Given the description of an element on the screen output the (x, y) to click on. 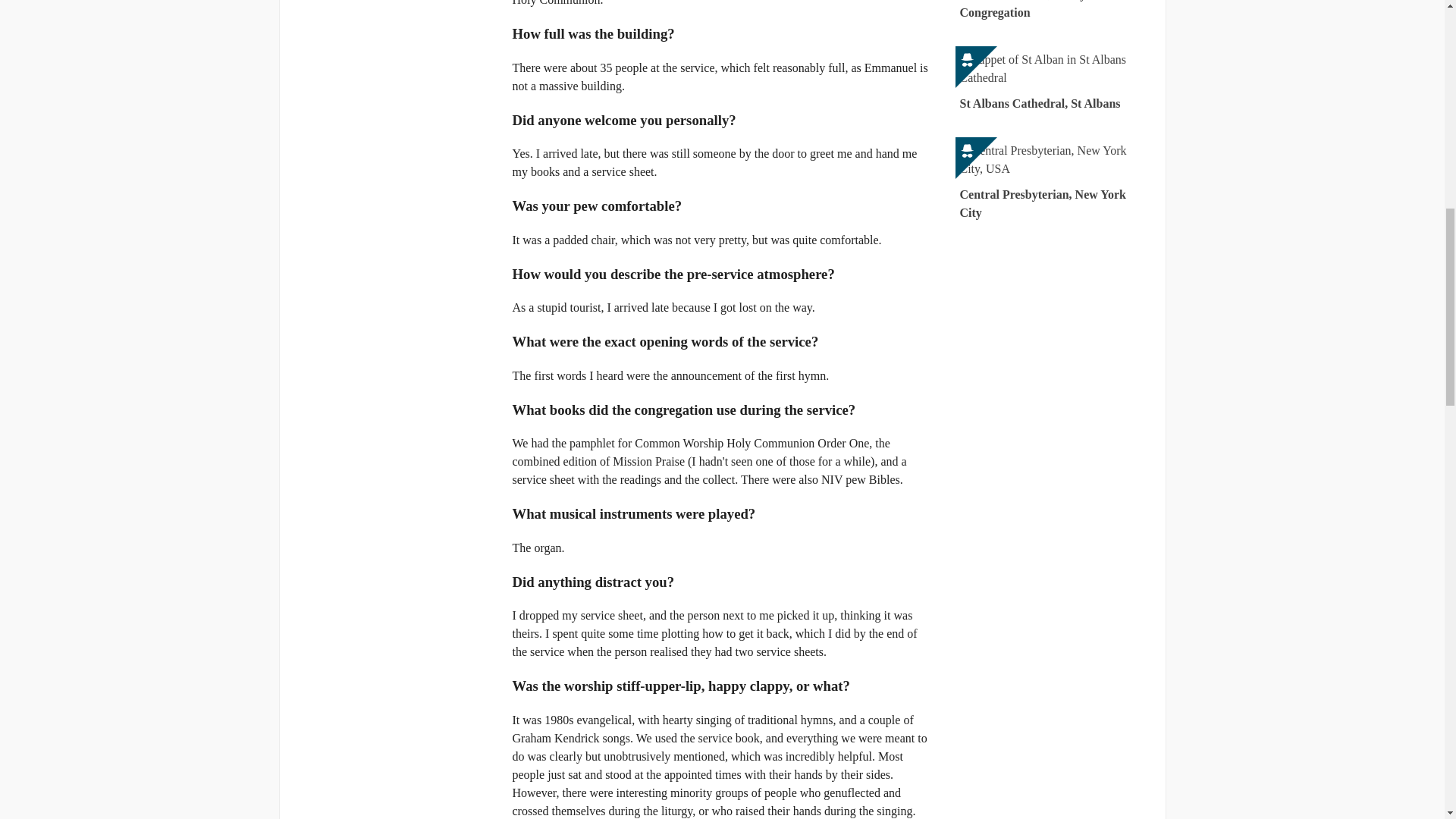
Central Presbyterian, New York City (1054, 181)
Church of Christ, Valley Congregation (1054, 13)
St Albans Cathedral, St Albans (1054, 81)
